Given the description of an element on the screen output the (x, y) to click on. 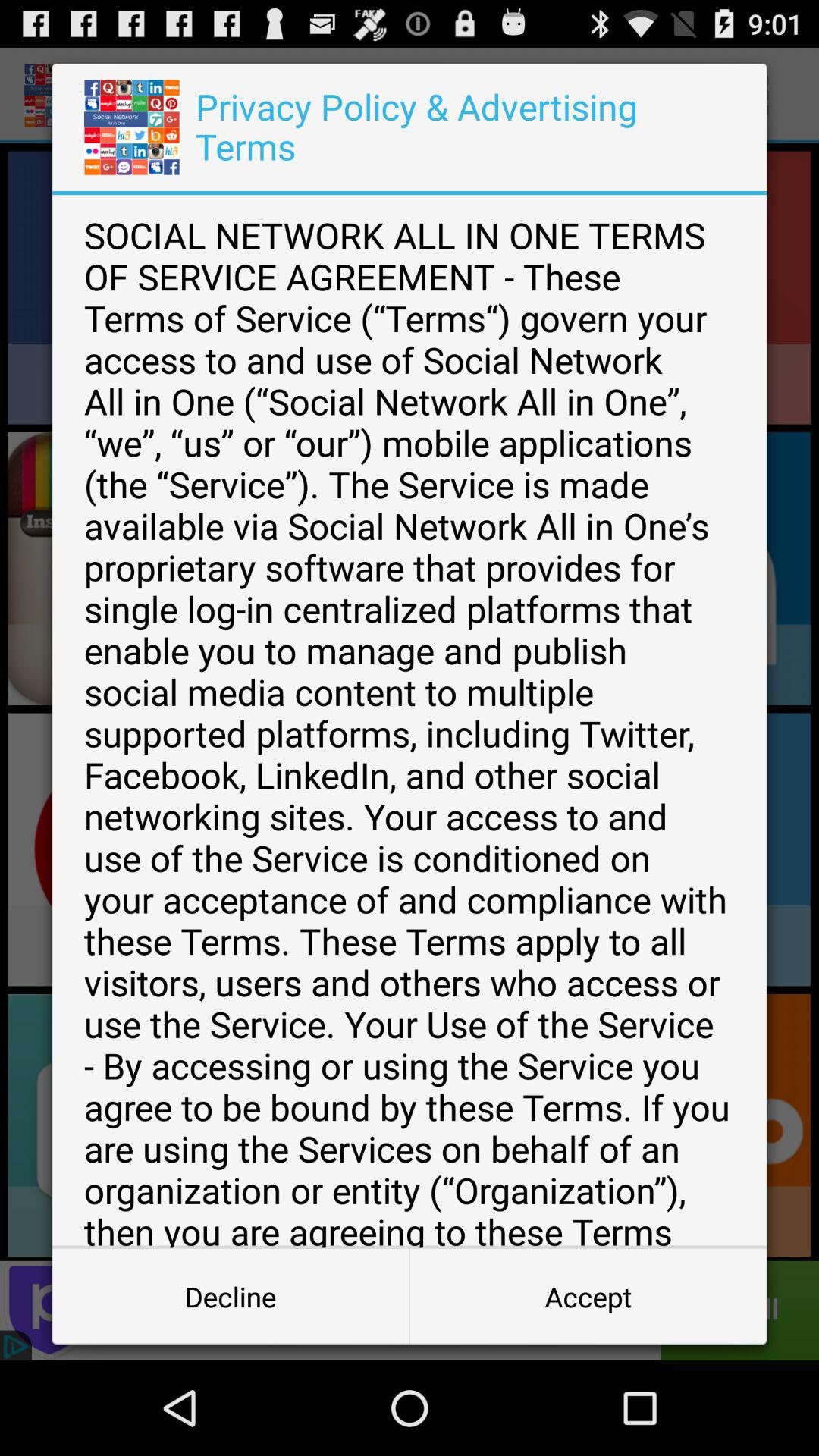
turn off icon to the left of accept icon (230, 1296)
